Given the description of an element on the screen output the (x, y) to click on. 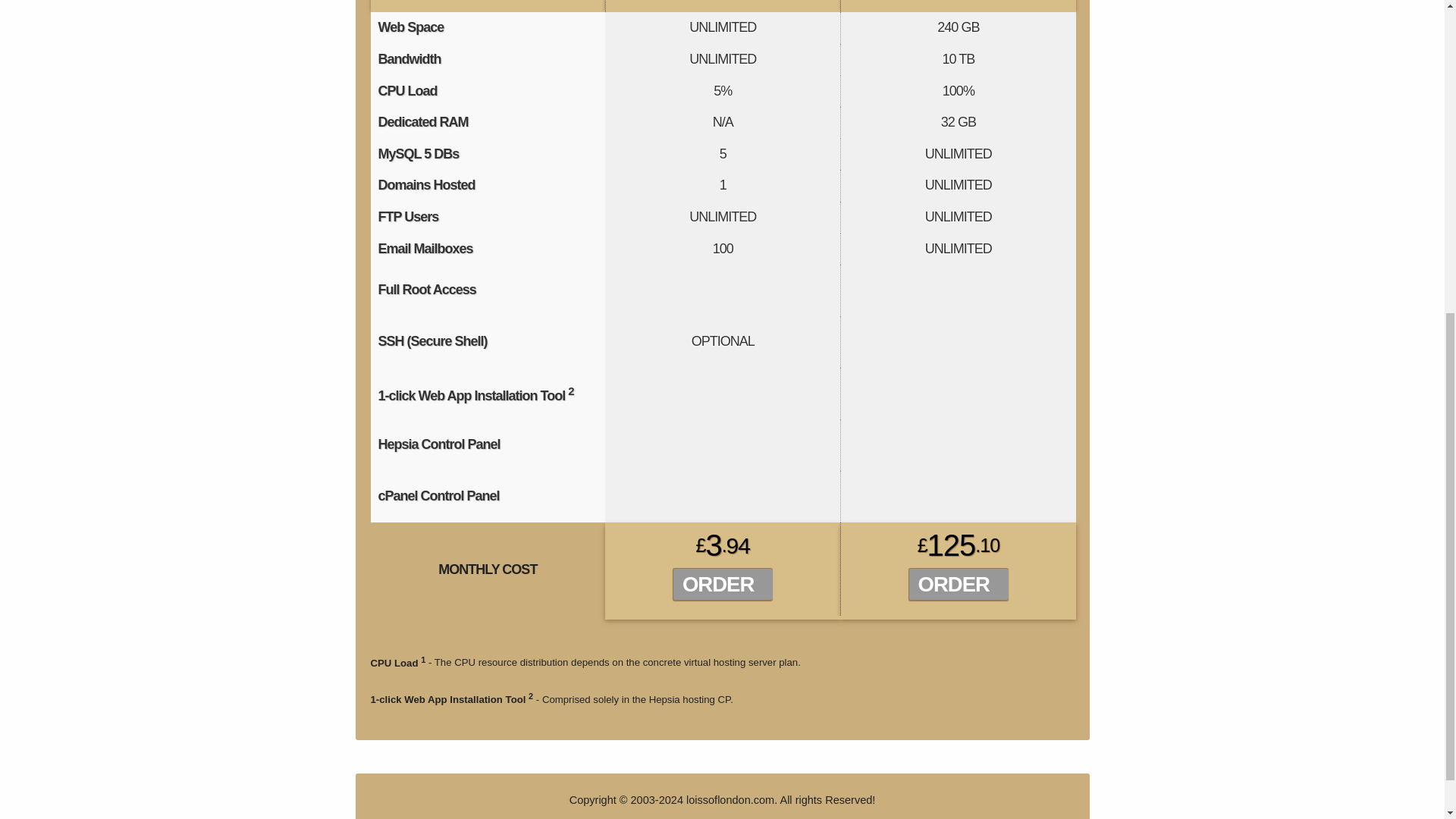
ORDER (953, 584)
ORDER (717, 584)
loissoflondon.com (729, 799)
